Given the description of an element on the screen output the (x, y) to click on. 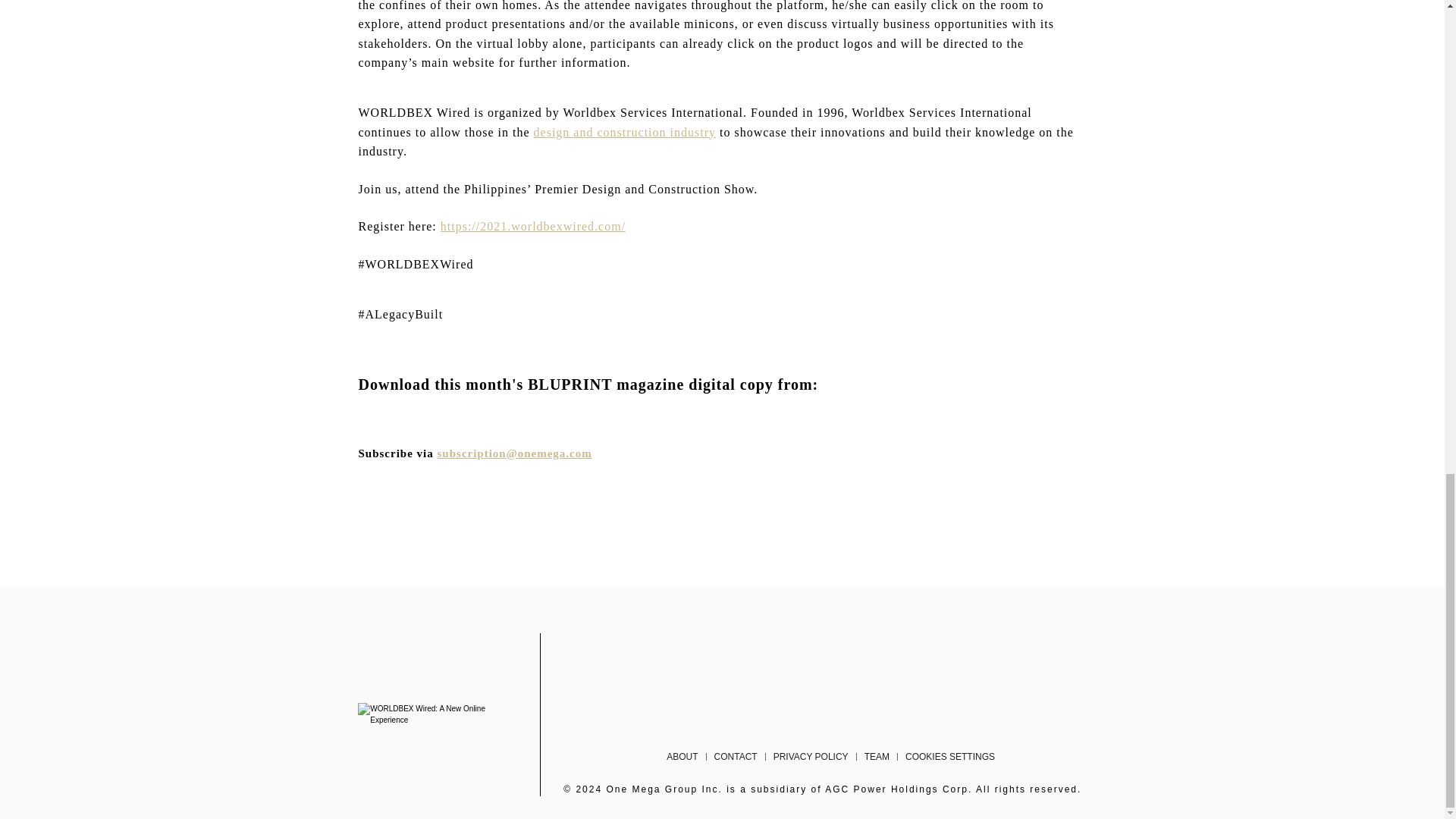
TEAM (876, 756)
CONTACT (735, 756)
PRIVACY POLICY (810, 756)
Subscribe now! (515, 453)
design and construction industry (625, 132)
WORLDBEX Wired: A New Online Experience (426, 713)
ABOUT (681, 756)
